Given the description of an element on the screen output the (x, y) to click on. 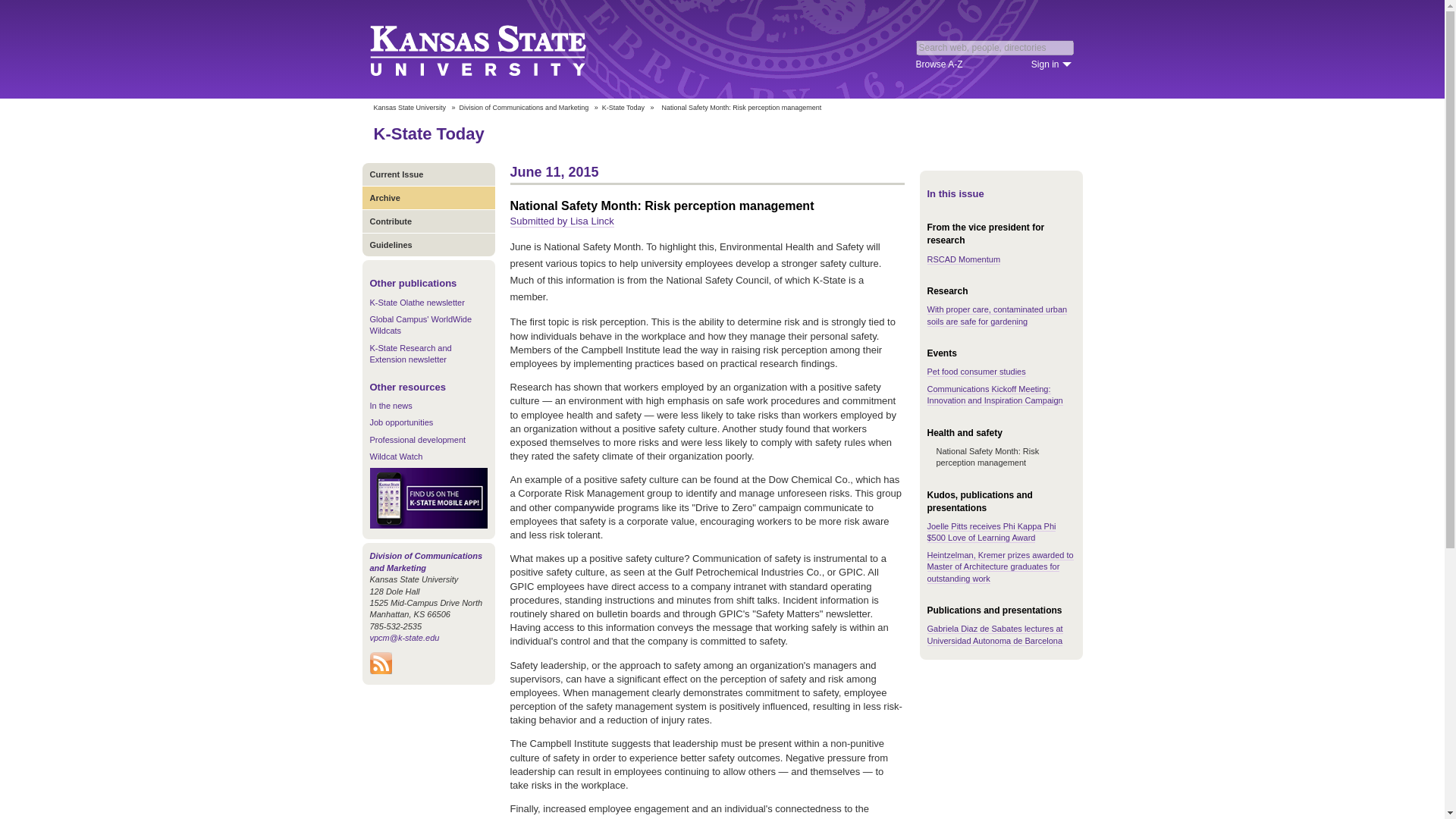
Wildcat Watch (396, 456)
Archive (428, 197)
Search web, people, directories (994, 47)
Current Issue (428, 173)
K-State Olathe newsletter (416, 302)
Subscribe to K-State Today RSS feeds (380, 669)
K-State Today (427, 133)
Job opportunities (401, 421)
